Given the description of an element on the screen output the (x, y) to click on. 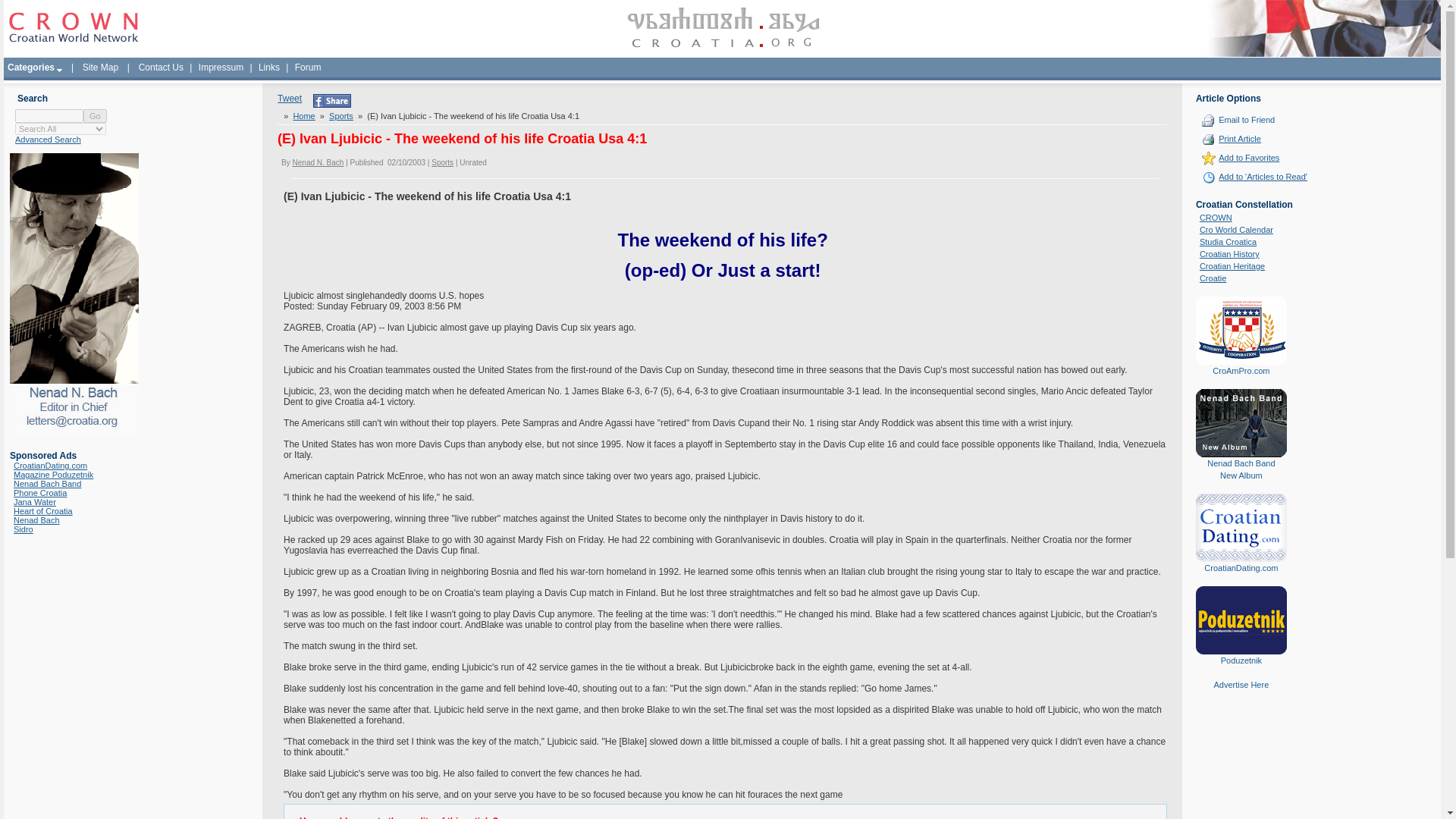
Studia Croatica (1227, 241)
CroatianDating.com (50, 465)
Share this page on Facebook (331, 104)
Home (303, 115)
Go (94, 115)
Email to Friend (1246, 119)
Advanced Search (47, 139)
Phone Croatia (39, 492)
Sports (441, 162)
Links (268, 67)
Cro World Calendar (1235, 229)
Jana Water (34, 501)
Go (94, 115)
Sidro (23, 528)
Tweet (289, 98)
